Given the description of an element on the screen output the (x, y) to click on. 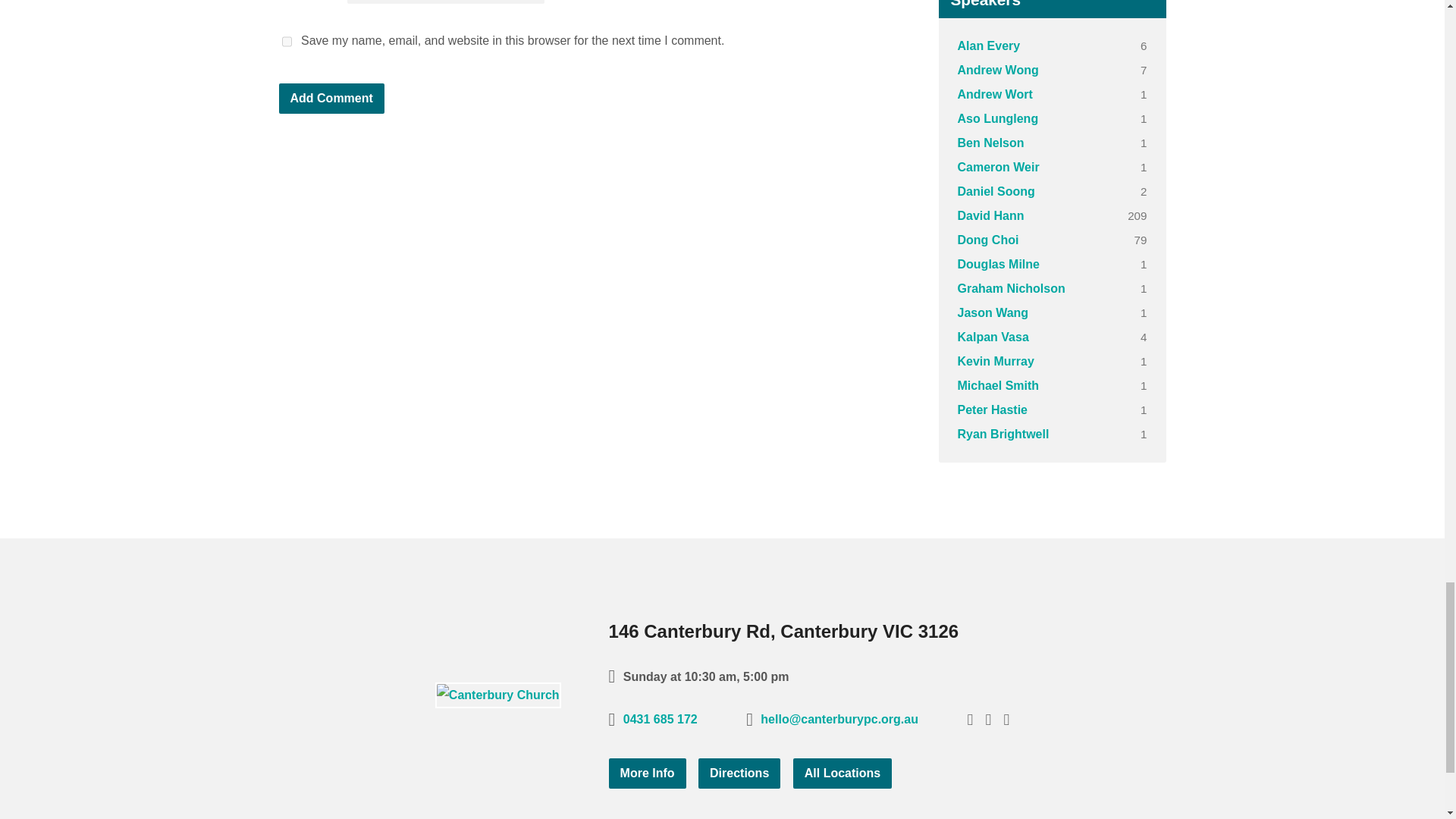
Canterbury Church (497, 694)
Add Comment (331, 98)
